Given the description of an element on the screen output the (x, y) to click on. 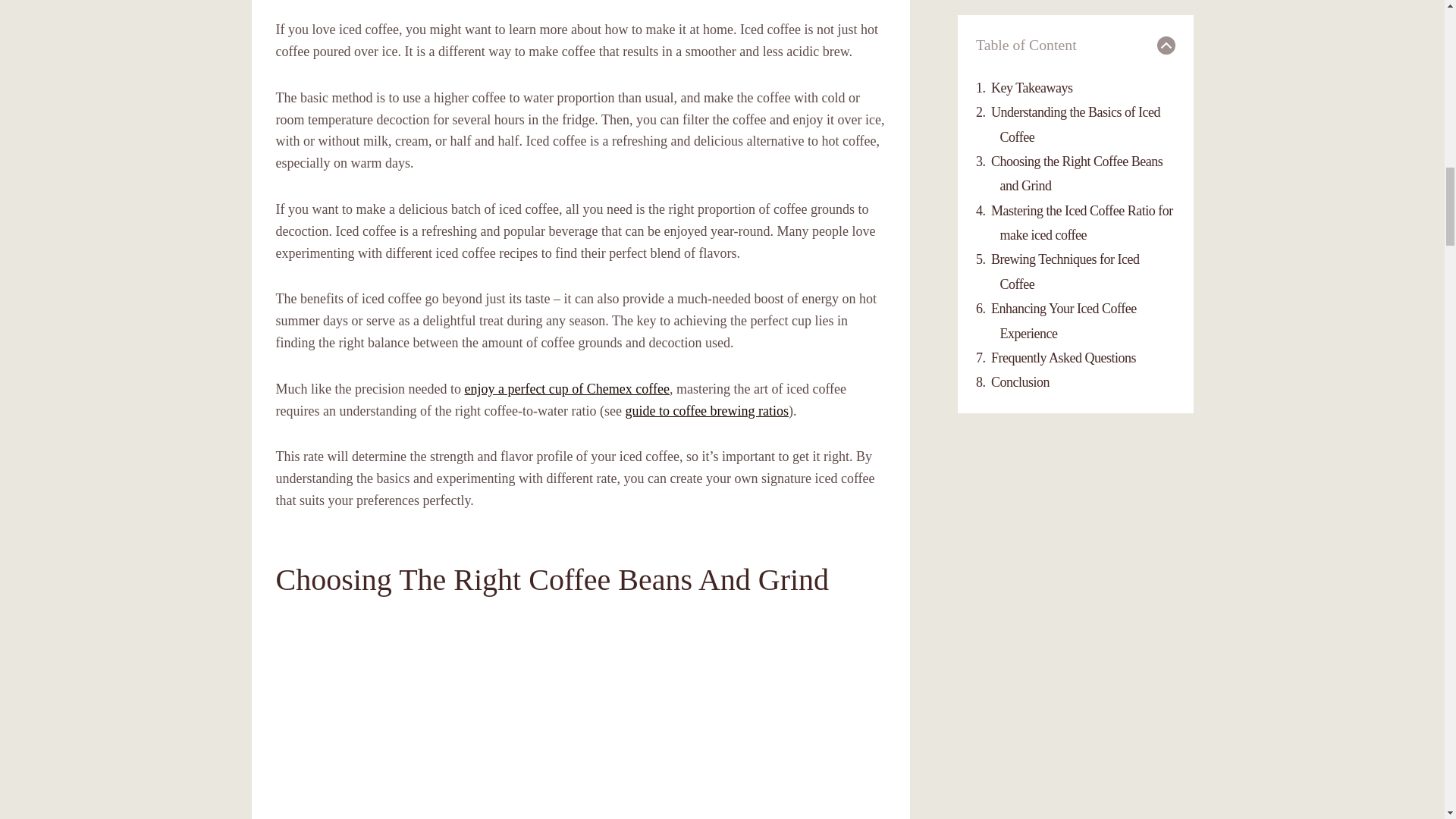
guide to coffee brewing ratios (706, 410)
enjoy a perfect cup of Chemex coffee (566, 388)
